Given the description of an element on the screen output the (x, y) to click on. 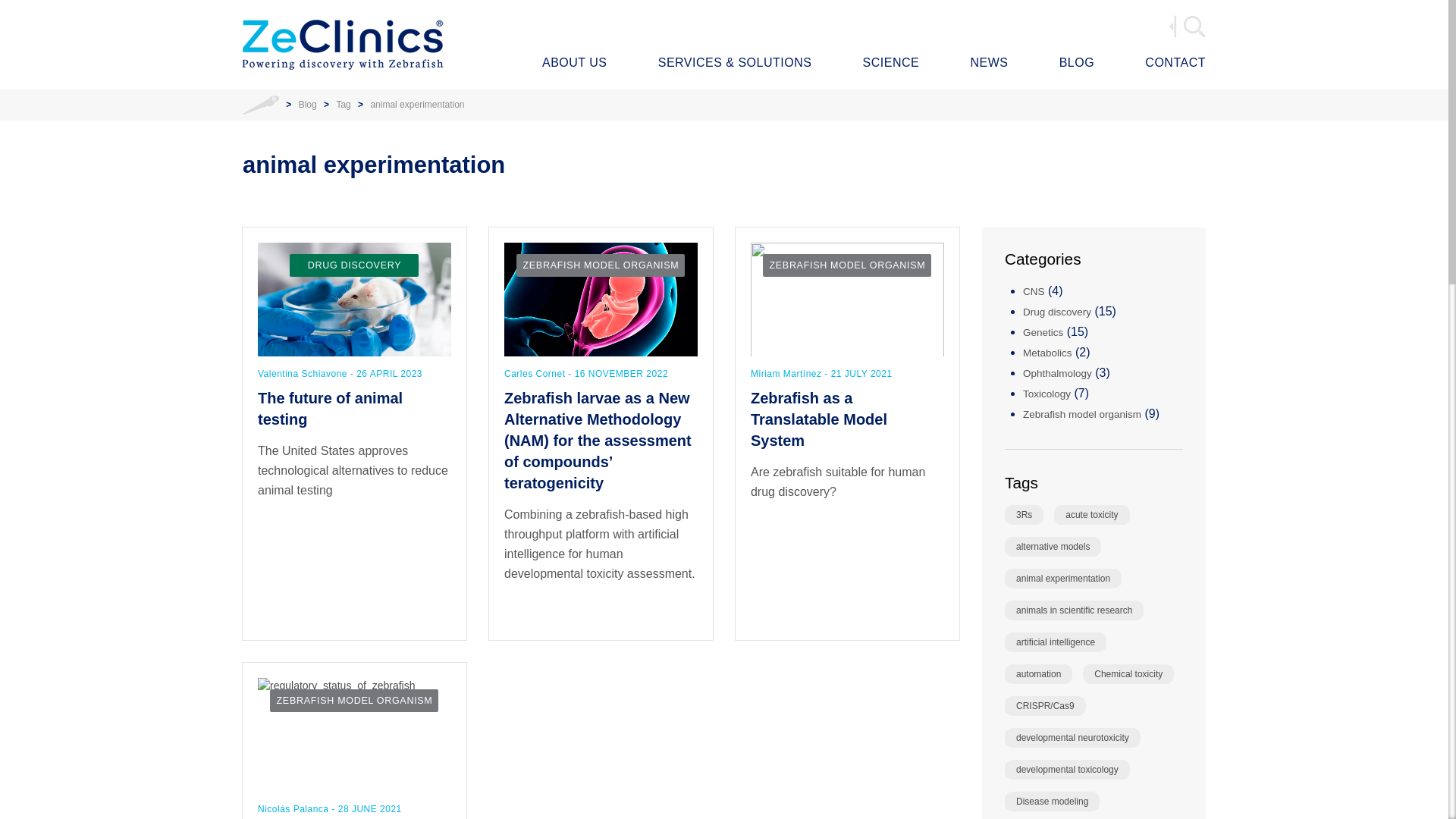
News (988, 63)
Blog (1076, 63)
Home (261, 104)
Nuestros Servicios (735, 63)
ABOUT US (574, 63)
Science (891, 63)
Blog (307, 104)
Contact (1174, 63)
About us (574, 63)
